Given the description of an element on the screen output the (x, y) to click on. 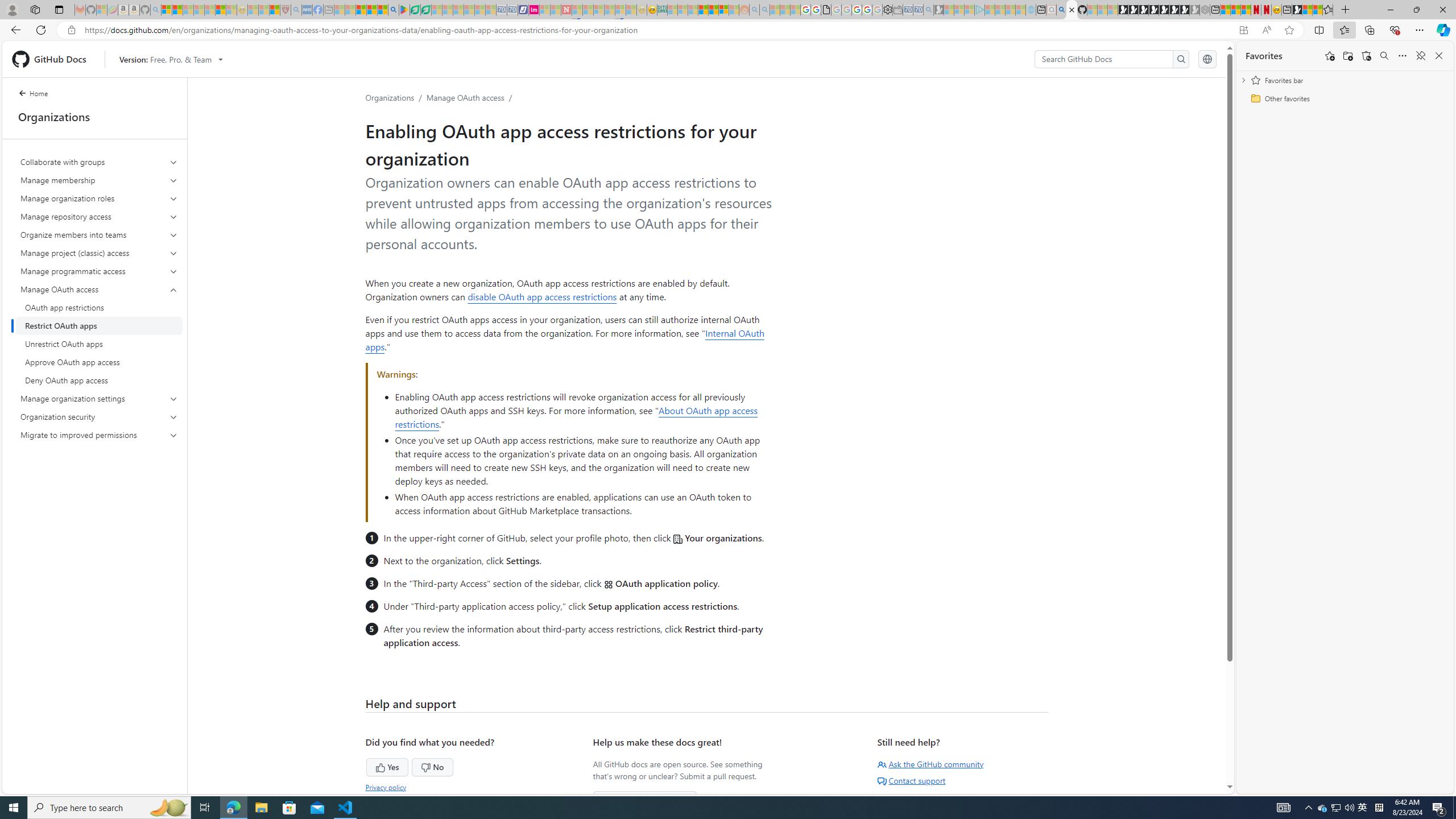
Recipes - MSN - Sleeping (253, 9)
Organize members into teams (99, 235)
Cheap Car Rentals - Save70.com - Sleeping (918, 9)
Home | Sky Blue Bikes - Sky Blue Bikes - Sleeping (1030, 9)
